Given the description of an element on the screen output the (x, y) to click on. 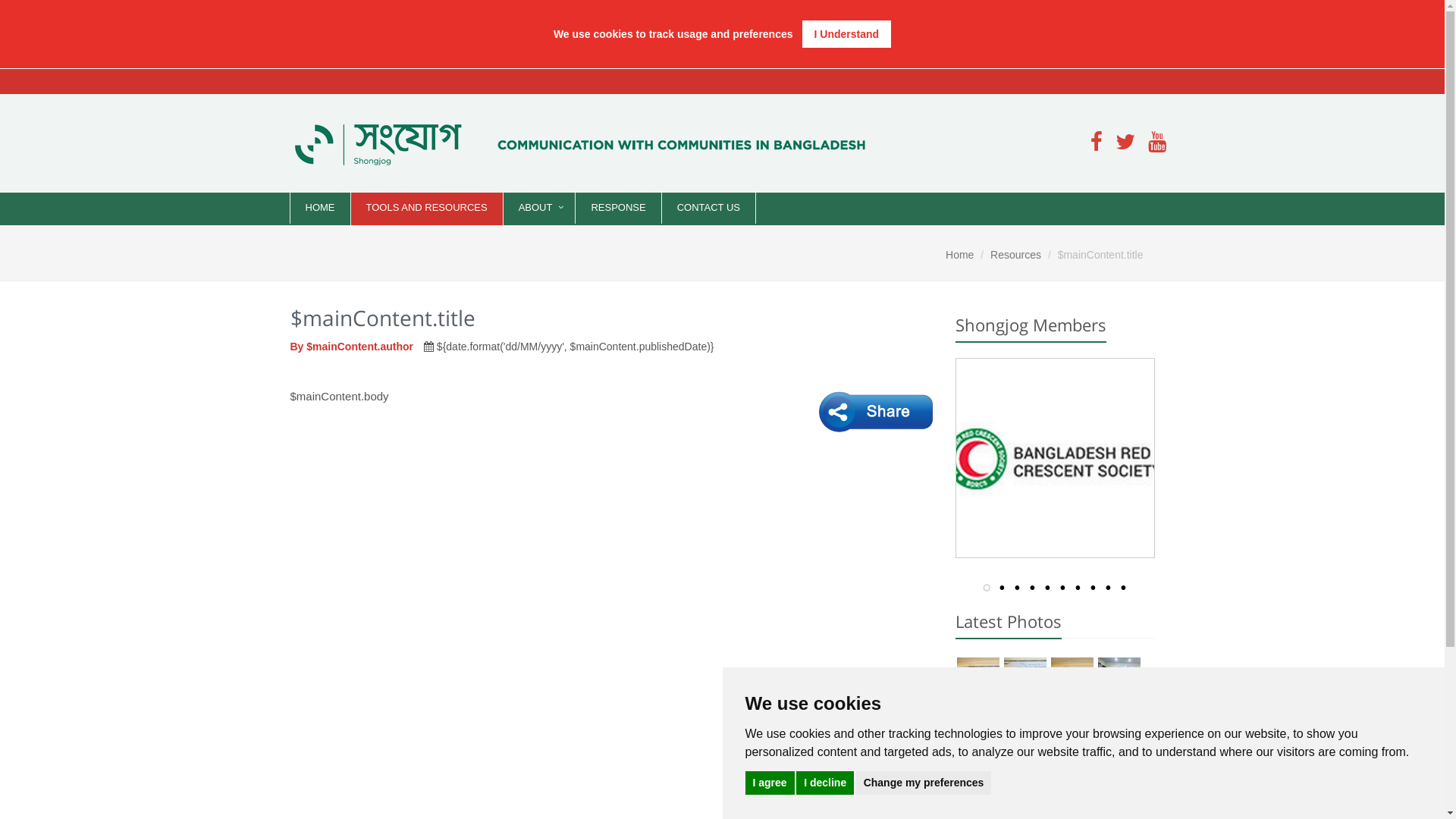
Change my preferences Element type: text (923, 781)
See more Element type: text (1124, 769)
Home Element type: text (959, 254)
TOOLS AND RESOURCES Element type: text (426, 208)
I agree Element type: text (768, 781)
I decline Element type: text (824, 781)
ABOUT Element type: text (539, 207)
HOME Element type: text (319, 207)
CONTACT US Element type: text (708, 207)
Resources Element type: text (1015, 254)
I Understand Element type: text (846, 33)
RESPONSE Element type: text (617, 207)
